Given the description of an element on the screen output the (x, y) to click on. 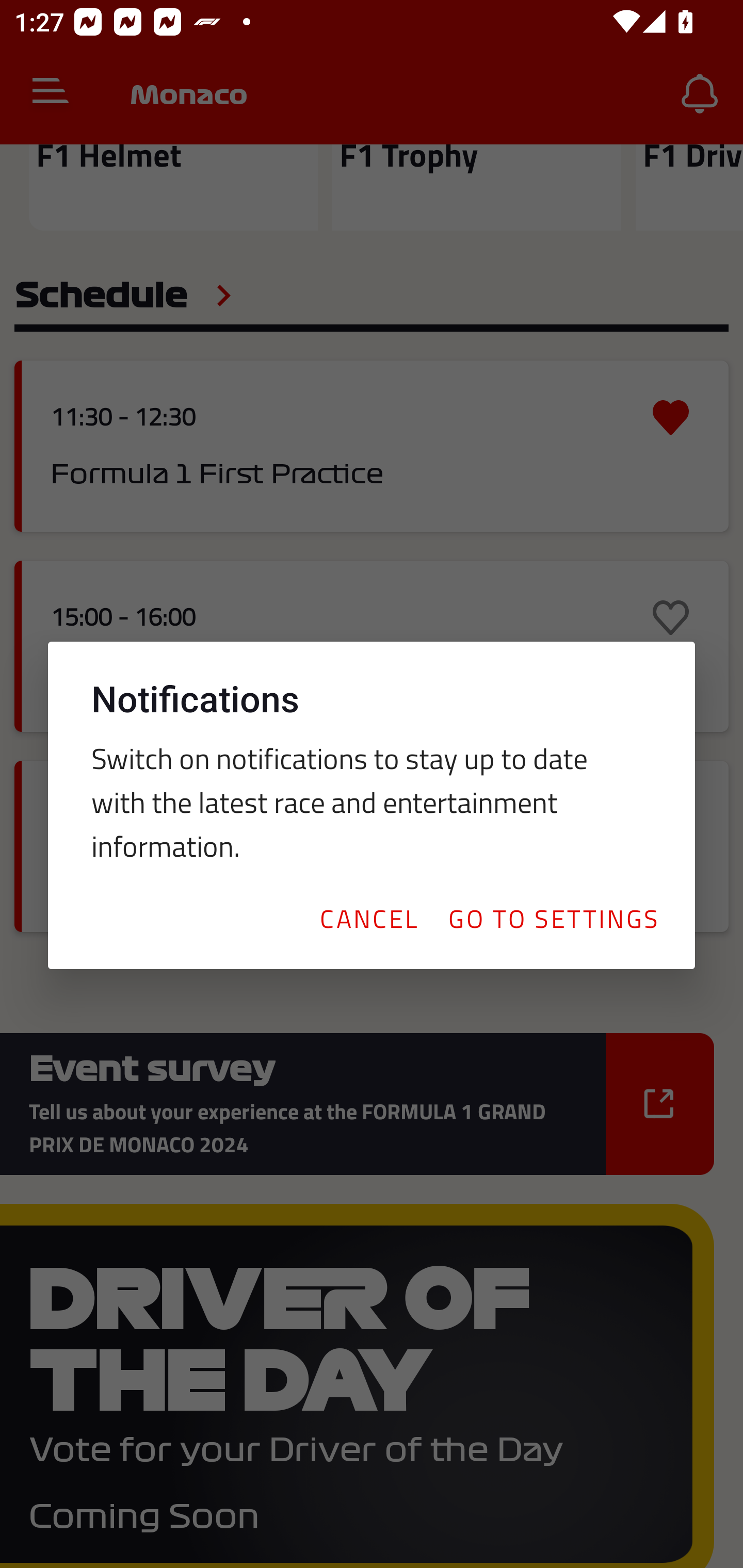
CANCEL (367, 917)
GO TO SETTINGS (552, 917)
